Given the description of an element on the screen output the (x, y) to click on. 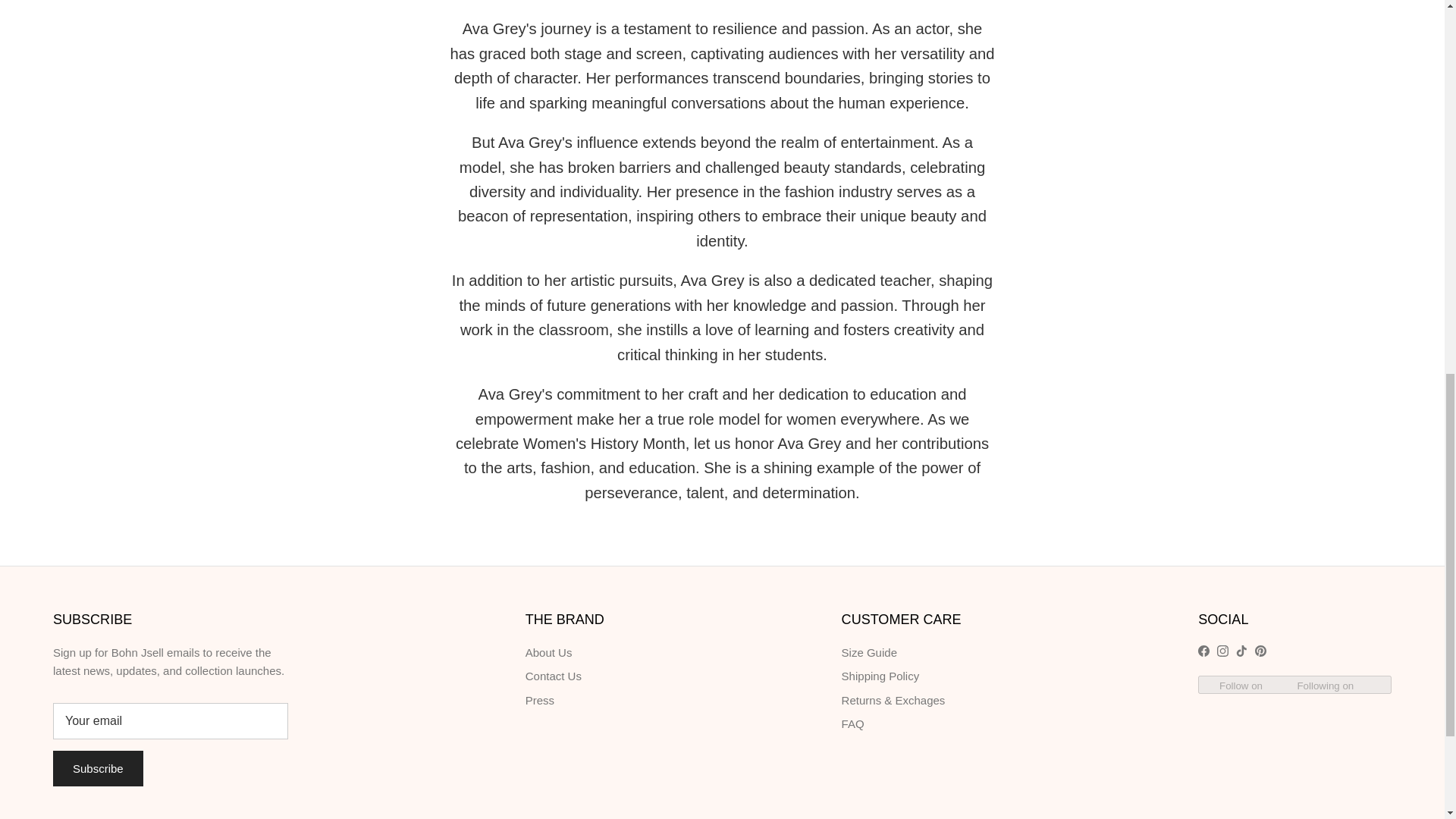
Bohn Jsell on TikTok (1241, 650)
Bohn Jsell on Instagram (1222, 650)
Bohn Jsell on Facebook (1203, 650)
Bohn Jsell on Pinterest (1260, 650)
